Given the description of an element on the screen output the (x, y) to click on. 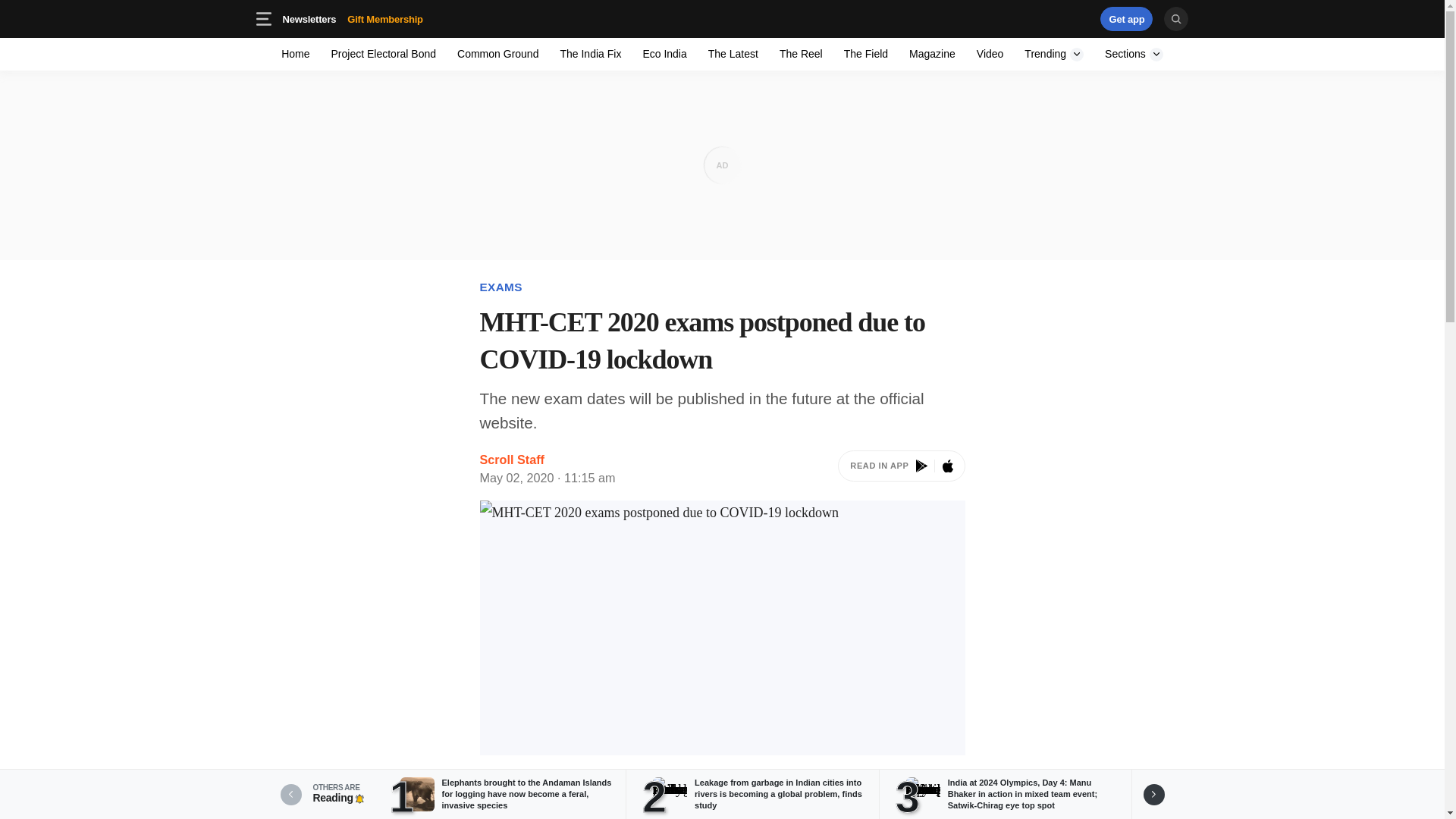
Gift Membership (385, 18)
Common Ground (497, 53)
Eco India (664, 53)
Newsletters (309, 18)
Project Electoral Bond (383, 53)
Get app (1126, 18)
Home (295, 53)
Get app (1126, 18)
The Latest (732, 53)
Magazine (931, 53)
The Field (865, 53)
Get app (1035, 18)
Trending (409, 18)
The Reel (1053, 53)
